Given the description of an element on the screen output the (x, y) to click on. 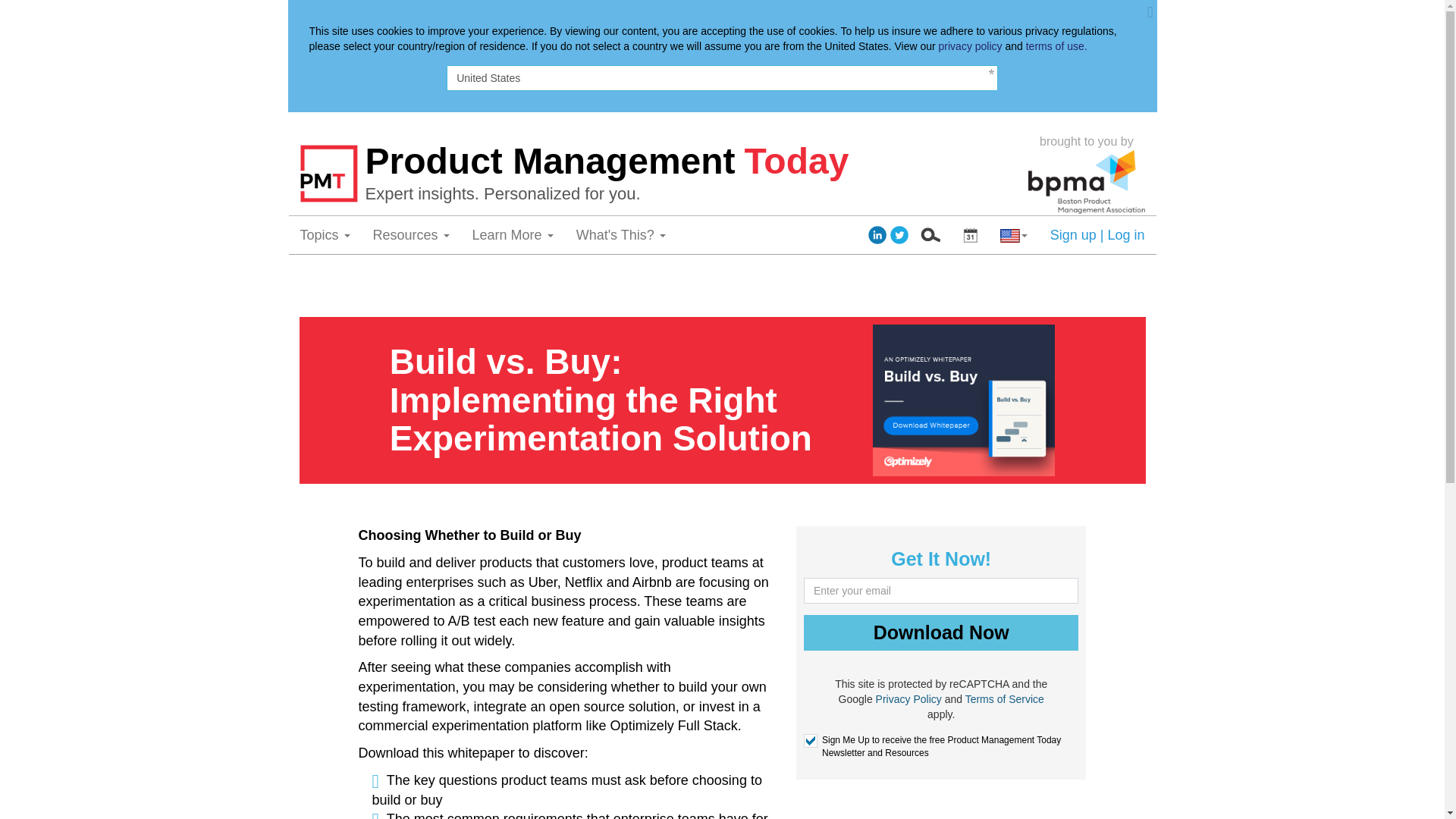
United States (721, 77)
Search (930, 234)
Boston Product Management Association (1085, 181)
Download Now (940, 633)
Select edition (970, 234)
Select your country (1013, 234)
